Given the description of an element on the screen output the (x, y) to click on. 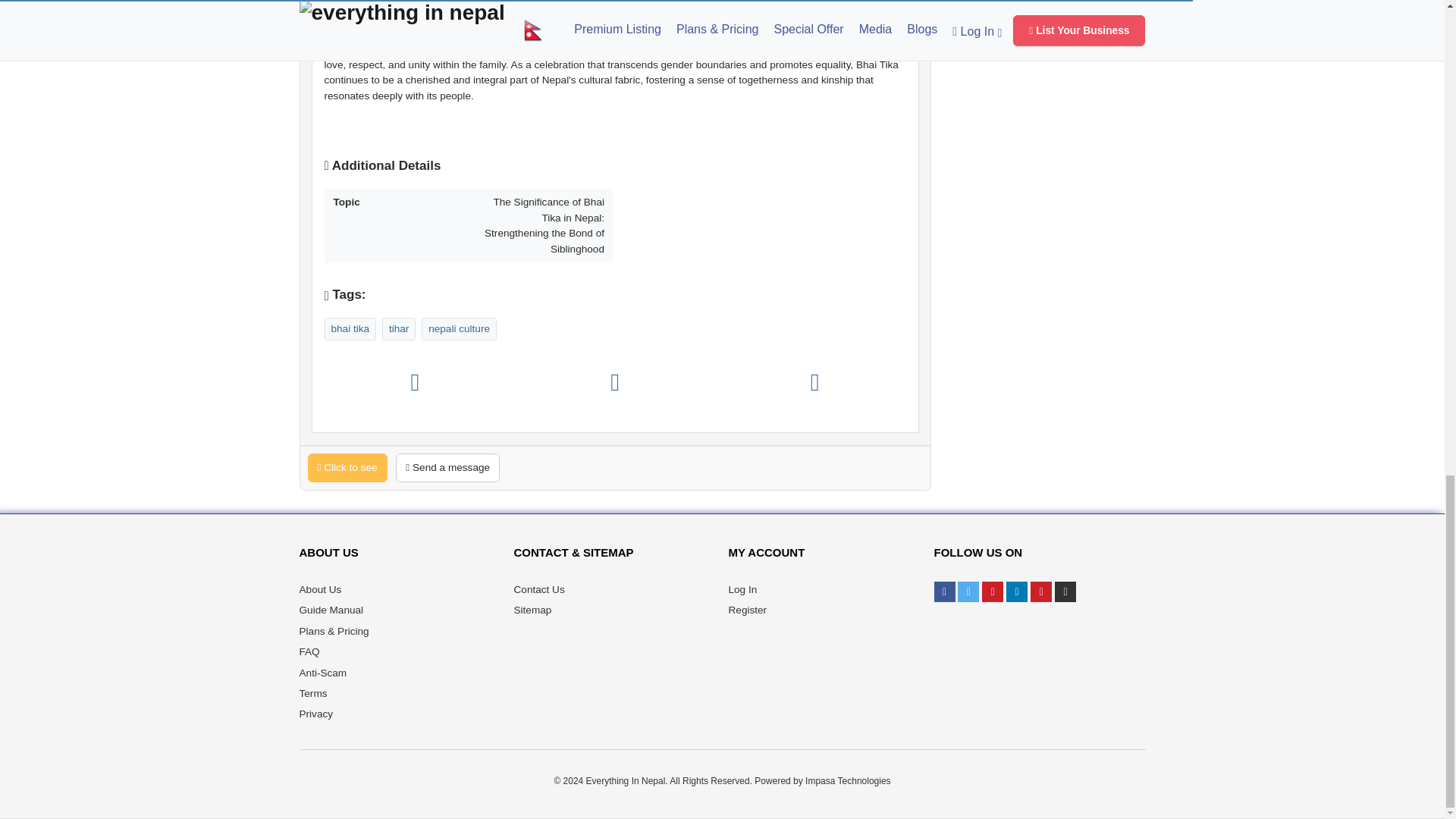
nepali culture (458, 328)
tihar (398, 328)
Pinterest (1040, 591)
Twitter (968, 591)
bhai tika (349, 328)
Instagram (992, 591)
Send a message (447, 467)
Tiktok (1064, 591)
Facebook (944, 591)
Click to see (347, 467)
